Given the description of an element on the screen output the (x, y) to click on. 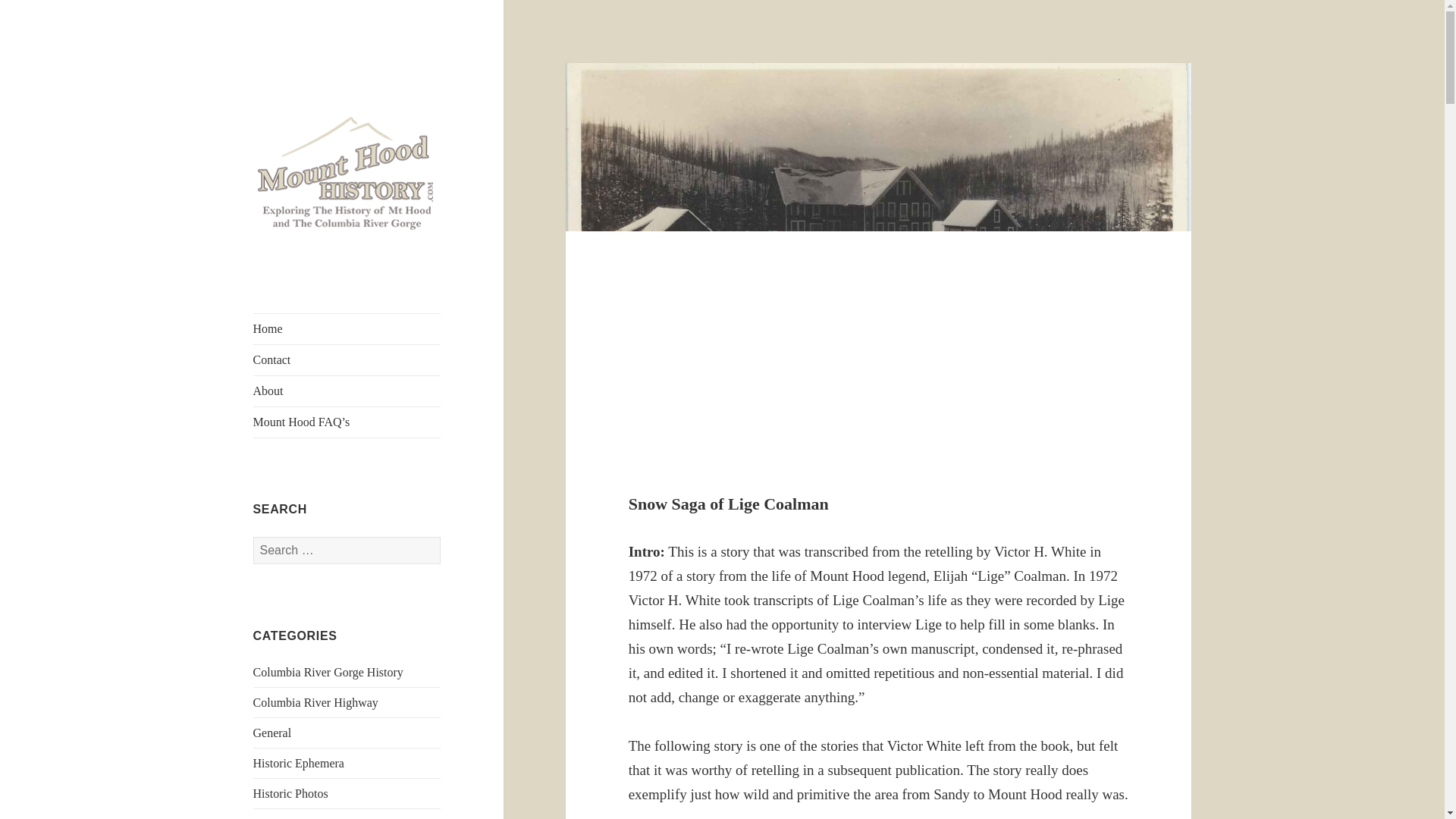
Columbia River Gorge History (328, 671)
Historic Ephemera (298, 762)
Mount Hood (284, 818)
Historic Photos (291, 793)
Columbia River Highway (315, 702)
About (347, 390)
General (272, 732)
Home (347, 328)
